Given the description of an element on the screen output the (x, y) to click on. 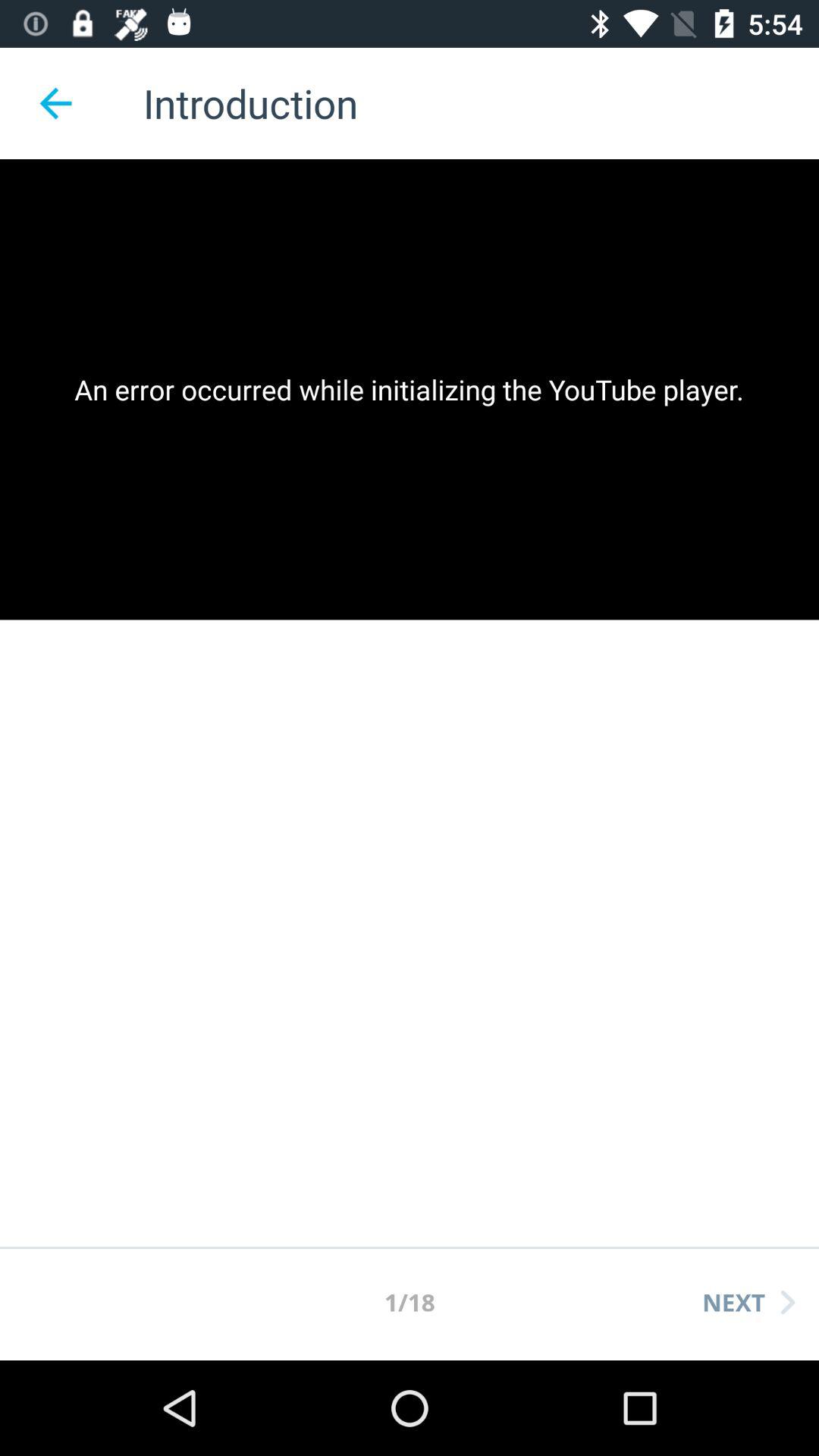
click icon below an error occurred app (748, 1302)
